Given the description of an element on the screen output the (x, y) to click on. 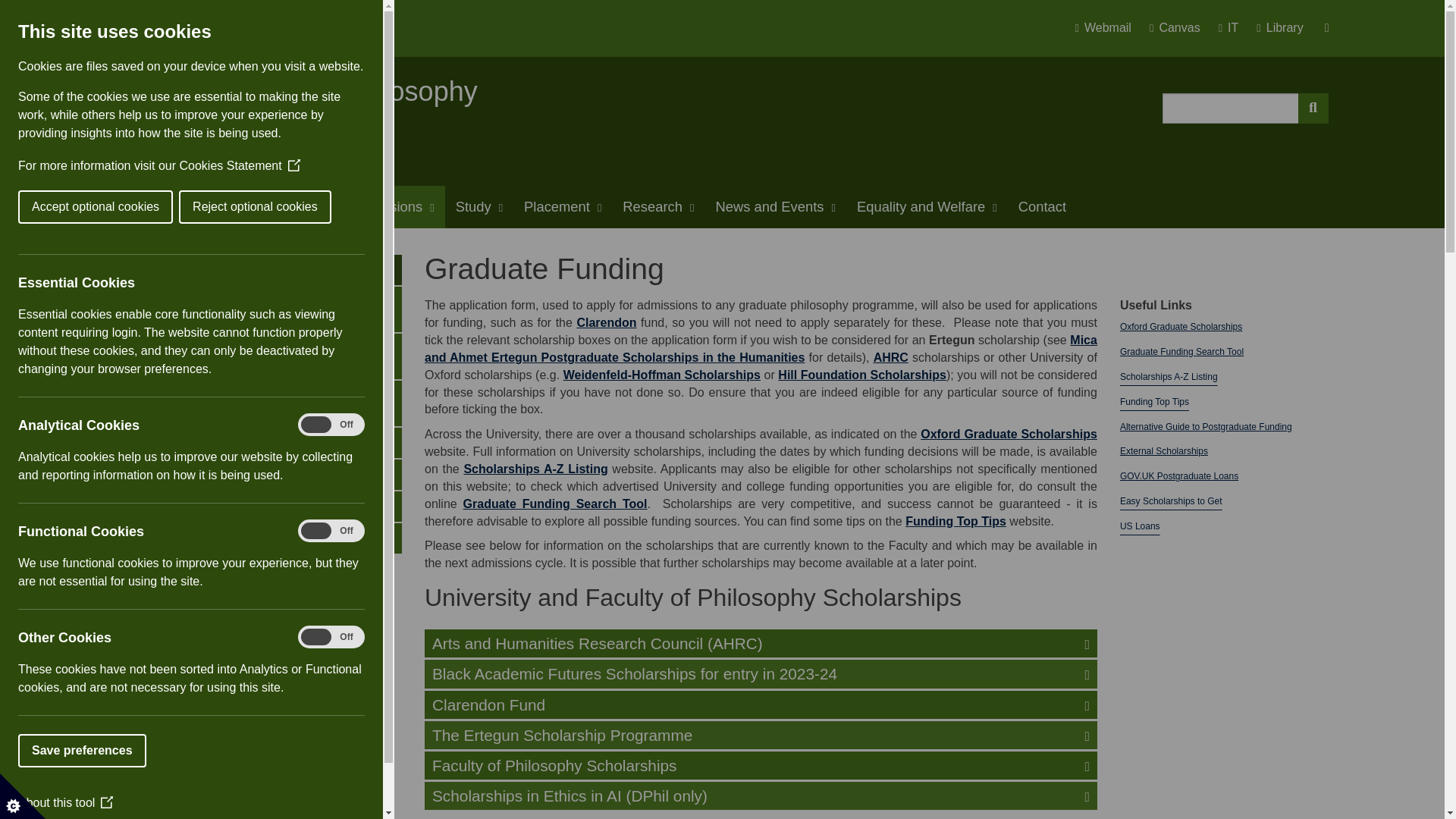
Search (1312, 108)
Canvas (1181, 28)
People (302, 206)
IT (1234, 28)
Home (144, 206)
Faculty of Philosophy (347, 91)
Canvas (1181, 28)
Enter the terms you wish to search for (1229, 108)
Reject optional cookies (49, 206)
Library (1279, 28)
About Us (219, 206)
Admissions (392, 206)
Webmail (1108, 28)
IT Information (1234, 28)
Webmail (1108, 28)
